Given the description of an element on the screen output the (x, y) to click on. 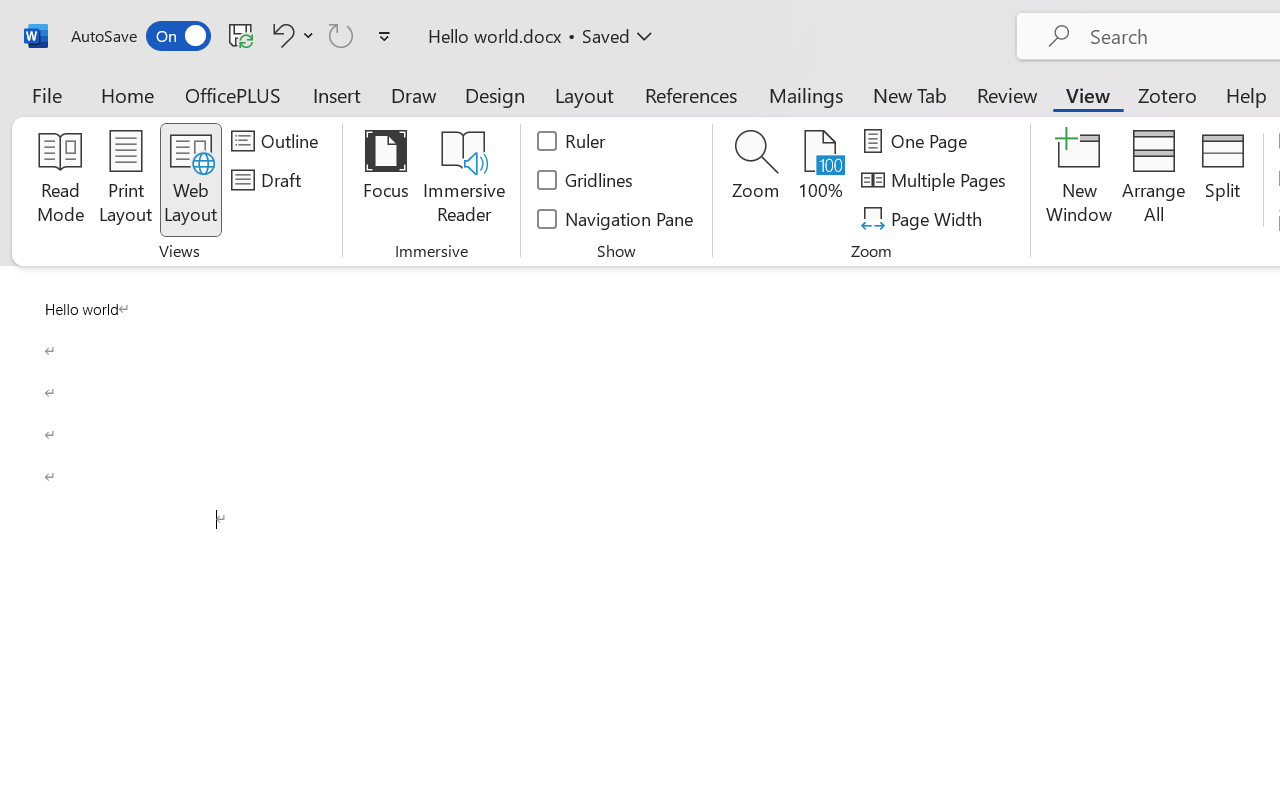
Ruler (572, 141)
Quick Access Toolbar (233, 36)
Navigation Pane (616, 218)
File Tab (46, 94)
Focus (385, 179)
Insert (337, 94)
Web Layout (190, 179)
Page Width (924, 218)
Gridlines (586, 179)
Design (495, 94)
100% (820, 179)
Multiple Pages (936, 179)
New Window (1079, 179)
Split (1222, 179)
View (1087, 94)
